Given the description of an element on the screen output the (x, y) to click on. 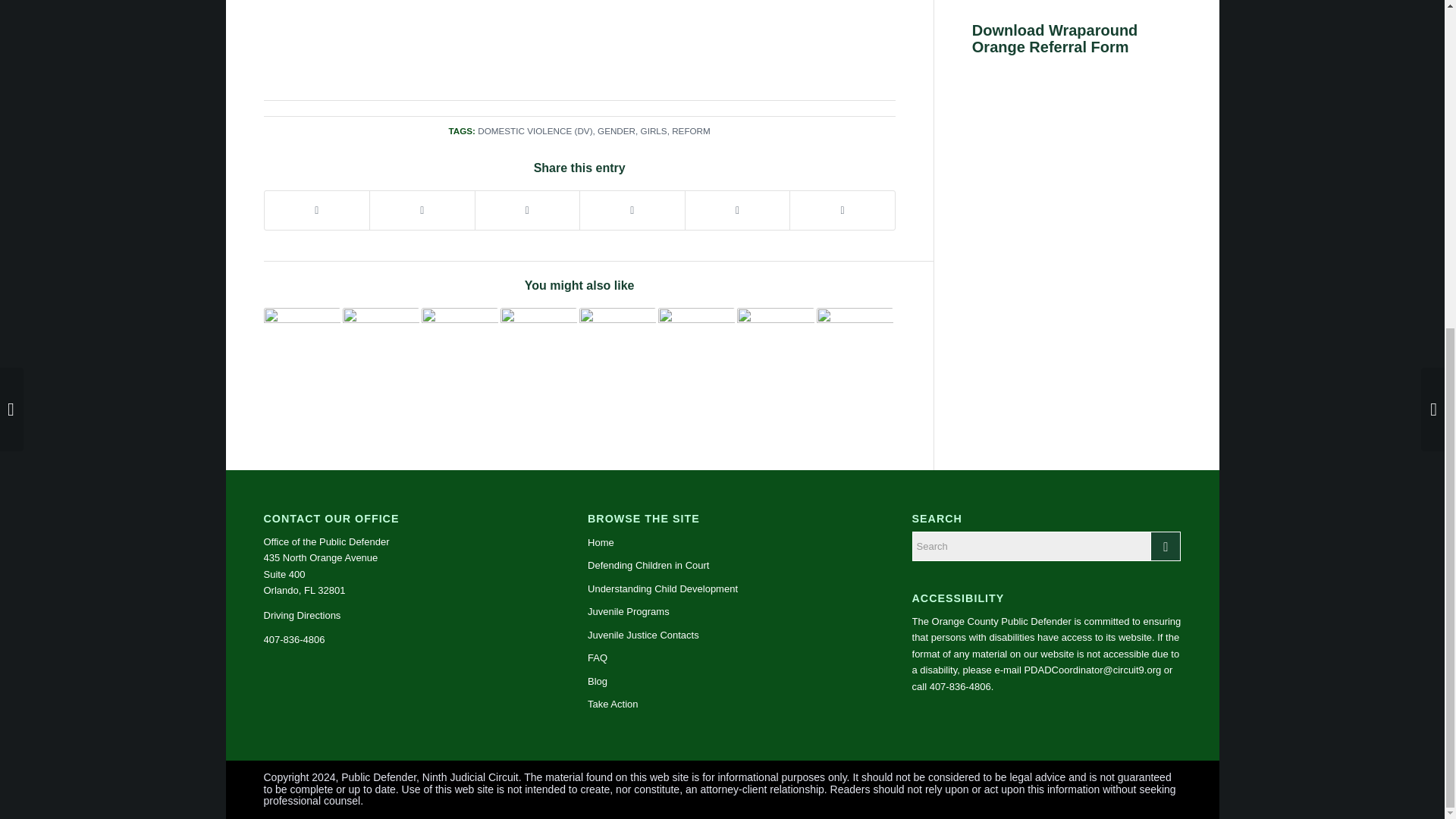
REFORM (690, 130)
Adverse Childhood Events Tied to Dementia (380, 345)
GENDER (615, 130)
GIRLS (653, 130)
